Given the description of an element on the screen output the (x, y) to click on. 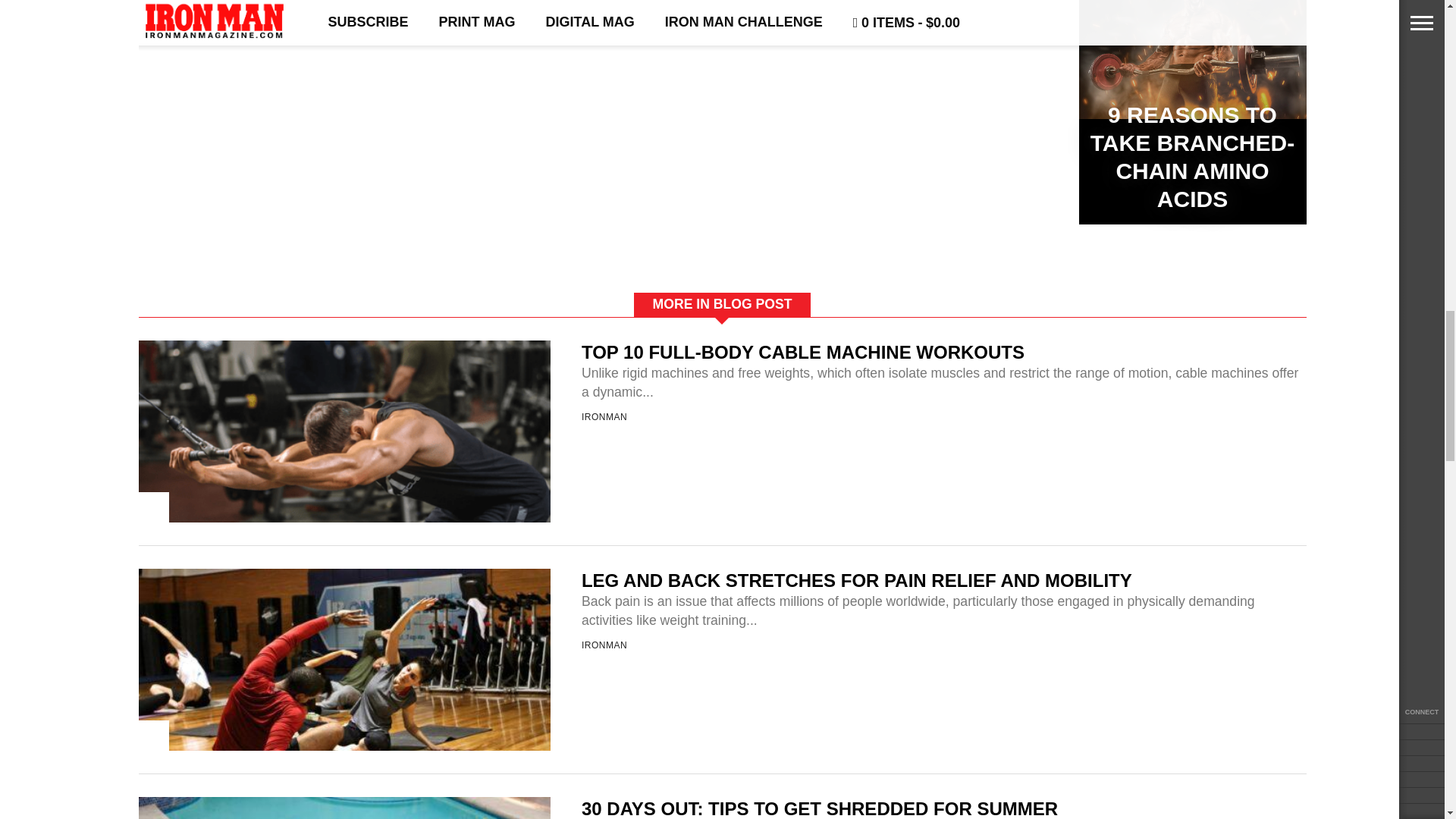
Leg and Back Stretches for Pain Relief and Mobility (344, 811)
Top 10 Full-Body Cable Machine Workouts (344, 583)
